Given the description of an element on the screen output the (x, y) to click on. 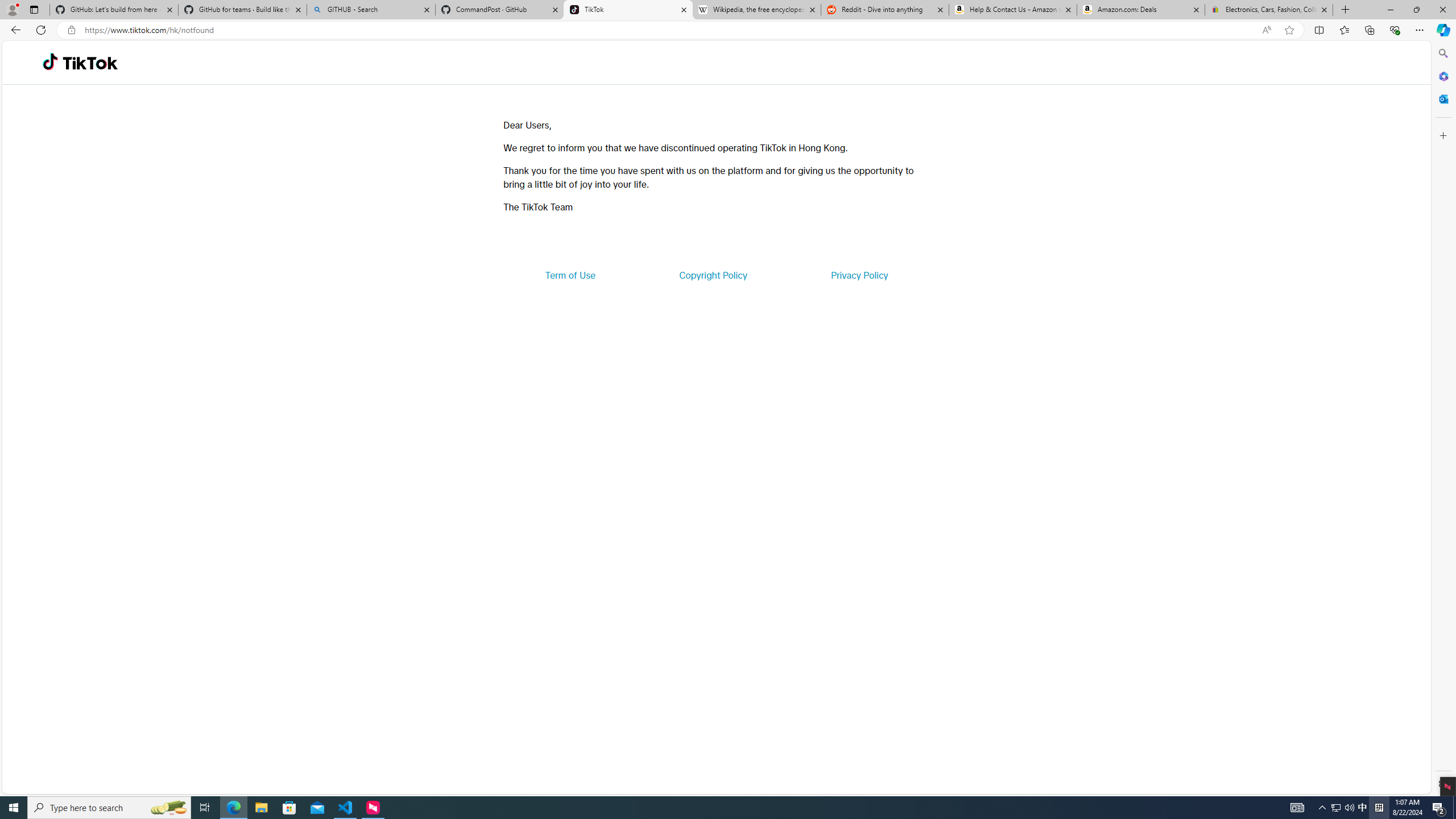
Term of Use (569, 274)
Reddit - Dive into anything (884, 9)
Help & Contact Us - Amazon Customer Service (1012, 9)
